Given the description of an element on the screen output the (x, y) to click on. 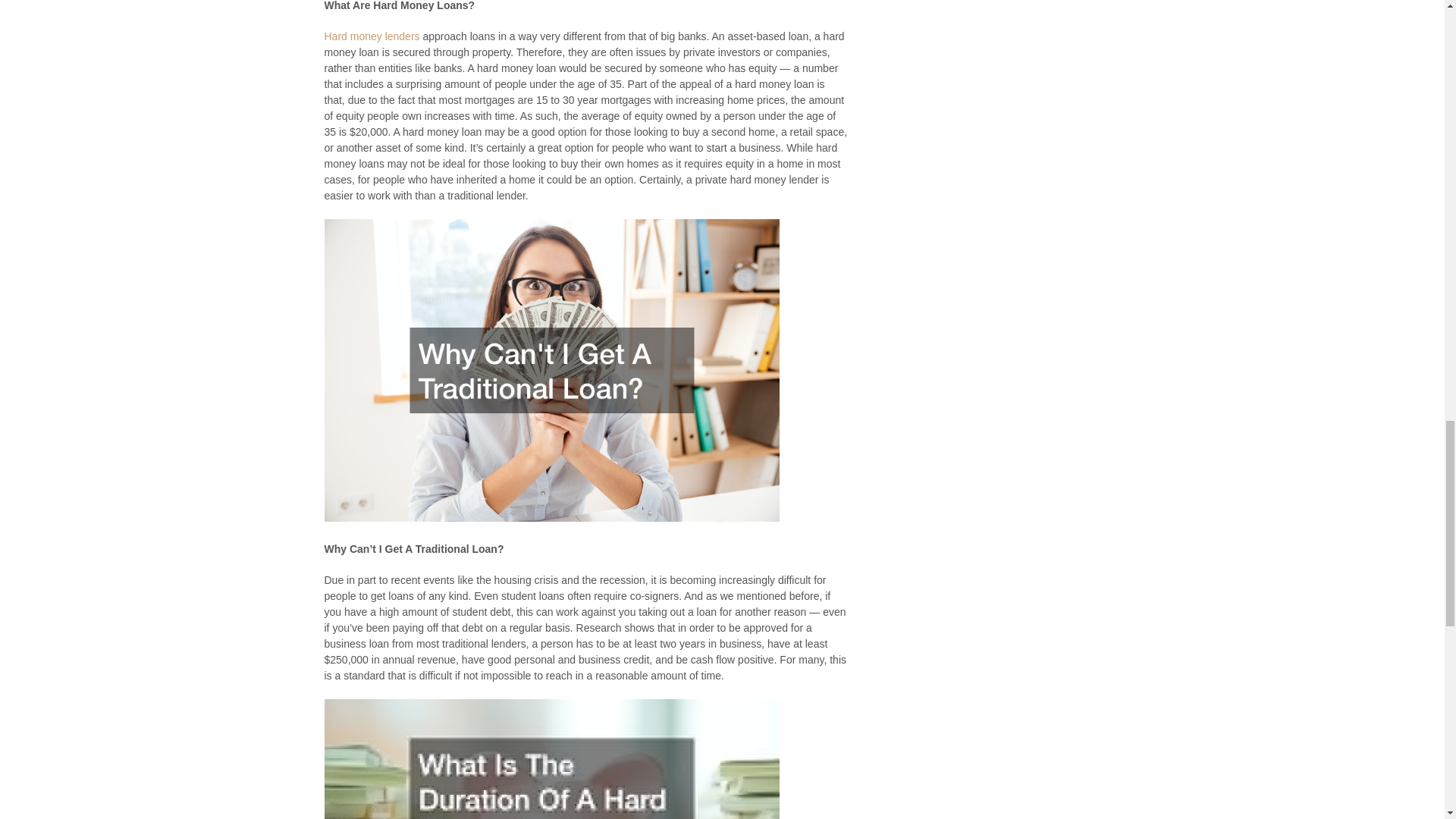
Hard money lenders (372, 36)
See me (372, 36)
